Given the description of an element on the screen output the (x, y) to click on. 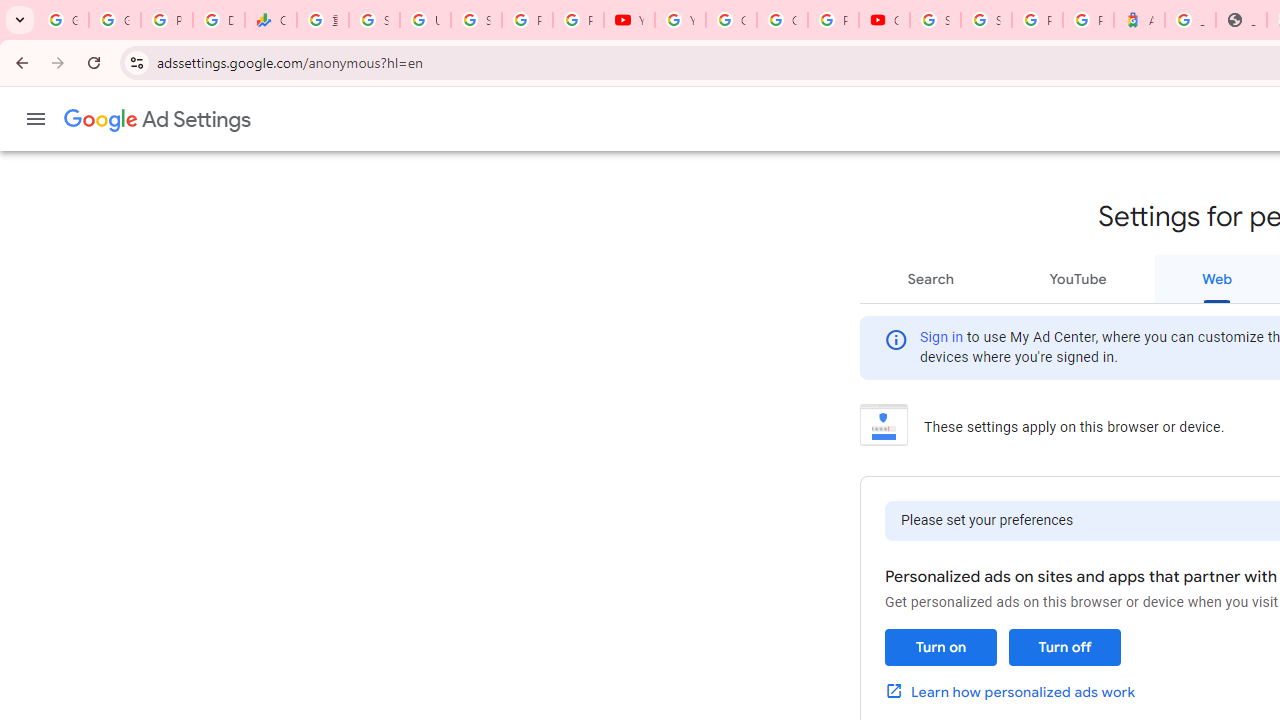
Content Creator Programs & Opportunities - YouTube Creators (884, 20)
Main menu (35, 119)
YouTube (680, 20)
Privacy Checkup (578, 20)
Web (1217, 278)
Ad Settings (158, 120)
Google Workspace Admin Community (63, 20)
Sign in (941, 337)
